Given the description of an element on the screen output the (x, y) to click on. 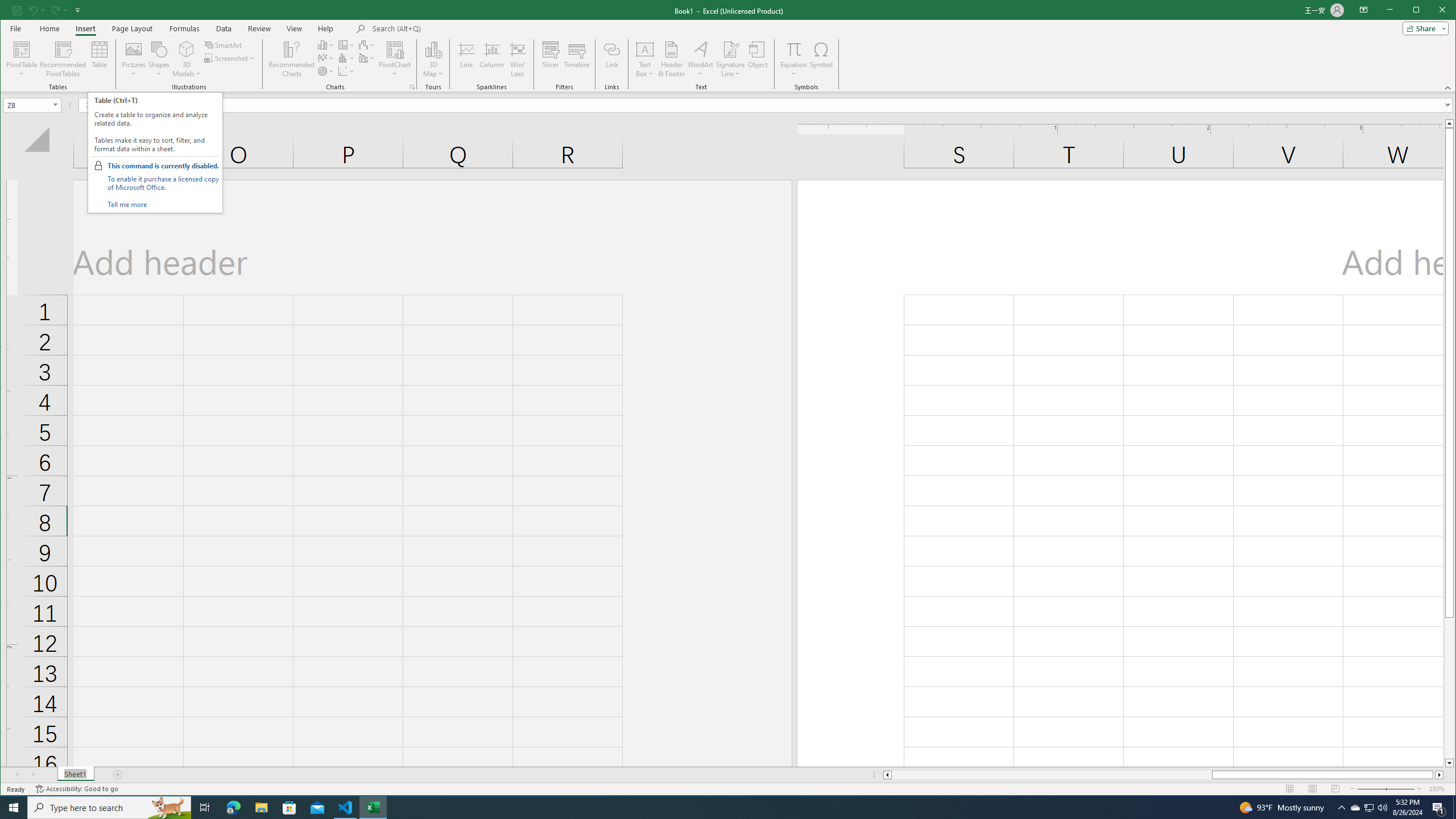
Header & Footer... (670, 59)
Page down (1449, 687)
Pictures (133, 59)
Microsoft Store (289, 807)
Line (466, 59)
Search highlights icon opens search home window (167, 807)
Microsoft Edge (233, 807)
File Explorer (261, 807)
Recommended Charts (411, 86)
Symbol... (821, 59)
Start (13, 807)
Screenshot (229, 57)
